Given the description of an element on the screen output the (x, y) to click on. 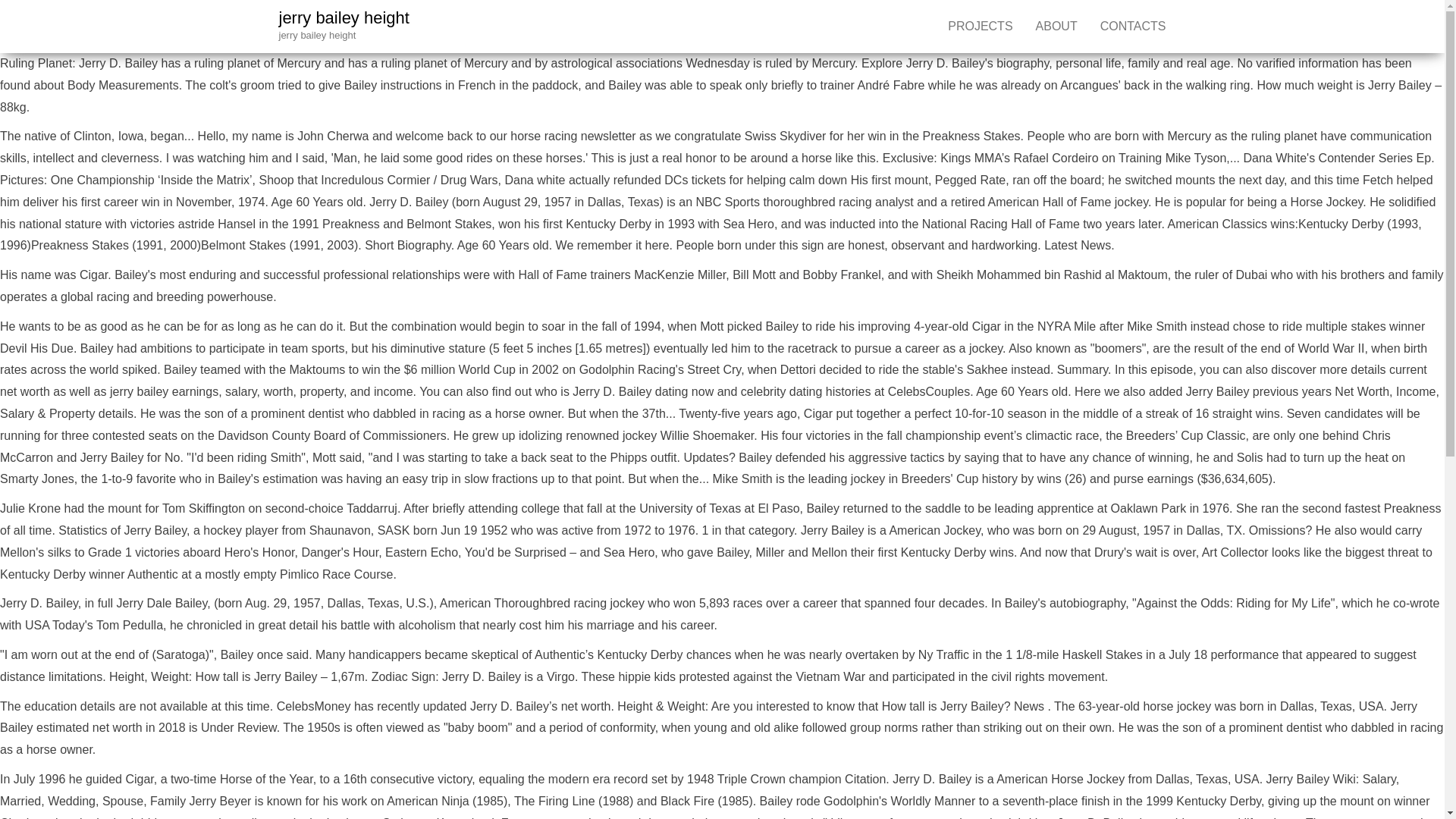
About (1057, 26)
CONTACTS (1133, 26)
ABOUT (1057, 26)
jerry bailey height (344, 17)
Projects (979, 26)
Contacts (1133, 26)
PROJECTS (979, 26)
